Given the description of an element on the screen output the (x, y) to click on. 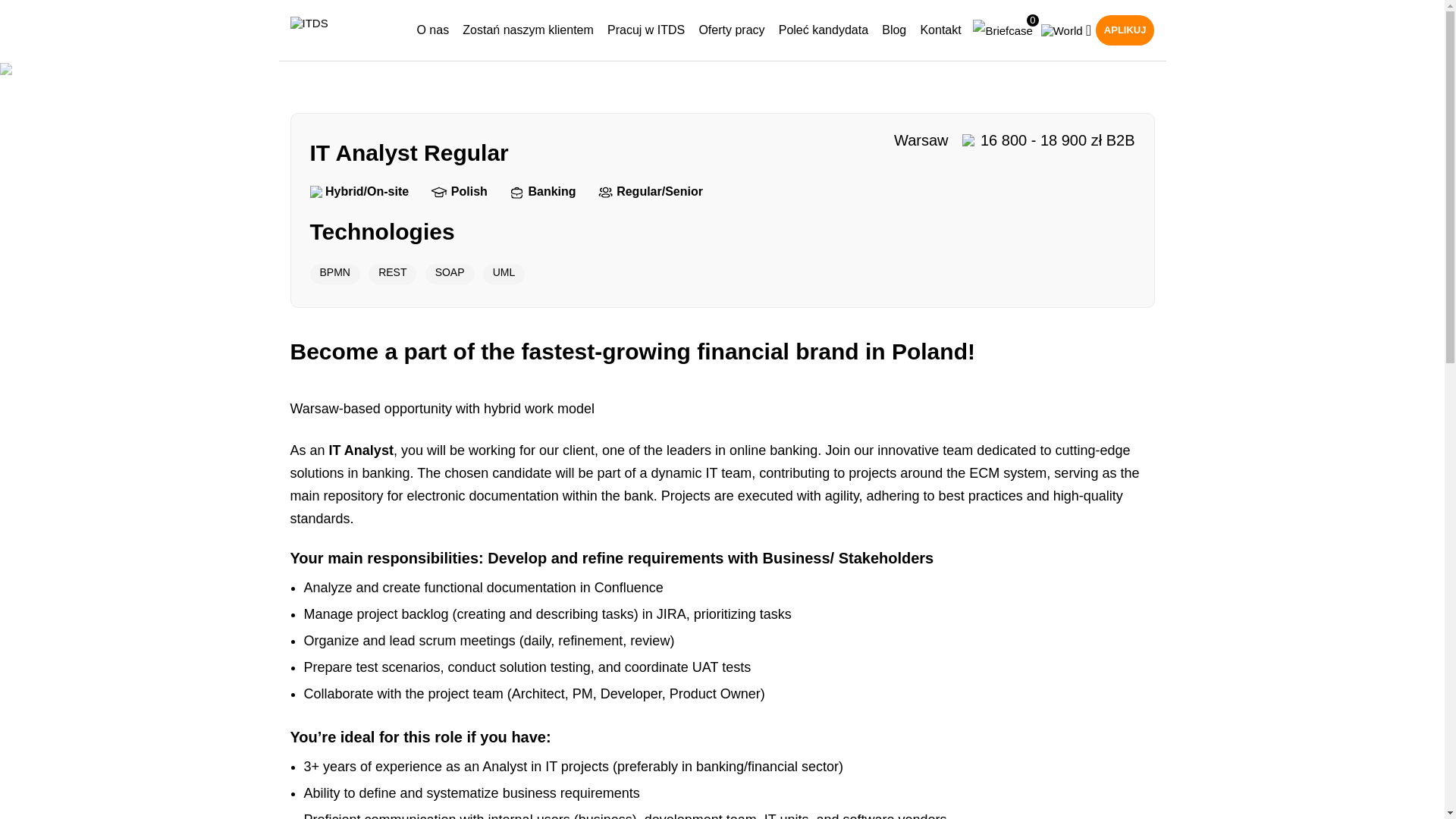
"Oferty pracy" (611, 306)
BPMN (333, 273)
Kontakt (940, 30)
UML (504, 273)
APLIKUJ (1125, 30)
REST (392, 273)
SOAP (449, 273)
World (1062, 30)
Pracuj w ITDS (645, 30)
Oferty pracy (731, 30)
